Given the description of an element on the screen output the (x, y) to click on. 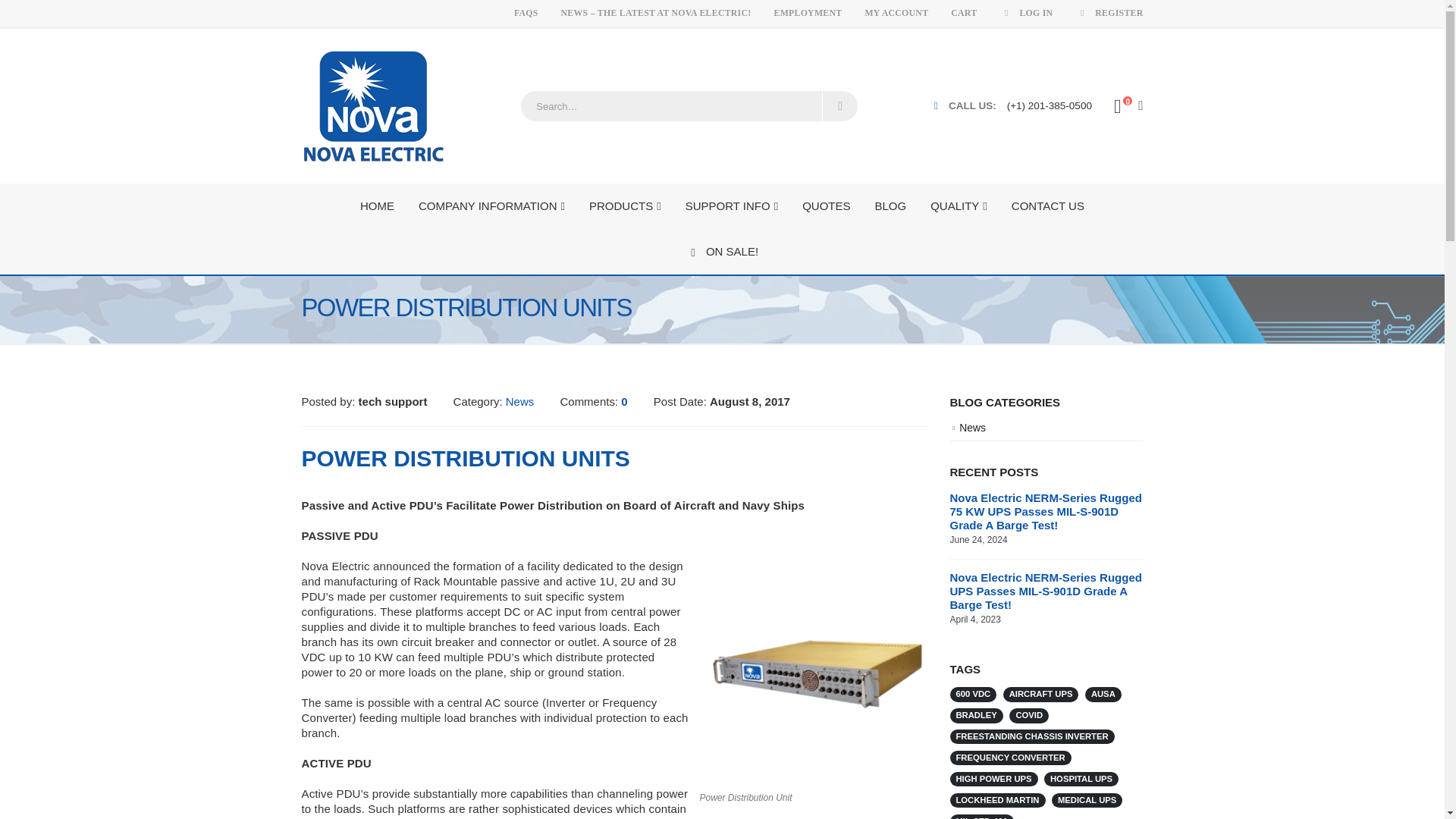
CART (963, 13)
SUPPORT INFO (731, 206)
Search (839, 105)
COMPANY INFORMATION (491, 206)
EMPLOYMENT (807, 13)
FAQS (526, 13)
HOME (377, 206)
REGISTER (1103, 13)
MY ACCOUNT (896, 13)
Nova Electric -  (373, 105)
PRODUCTS (625, 206)
LOG IN (1026, 13)
